Given the description of an element on the screen output the (x, y) to click on. 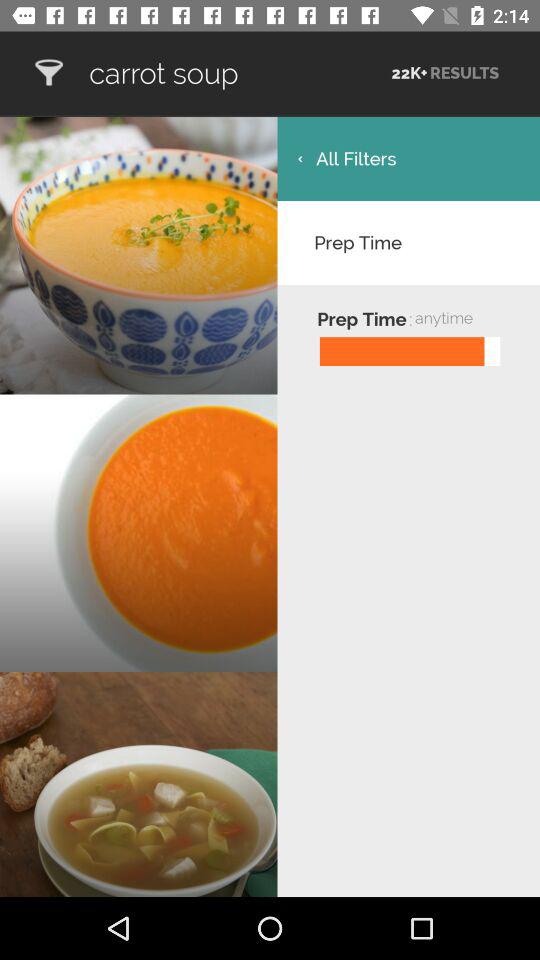
open the item to the left of the carrot soup (48, 72)
